Given the description of an element on the screen output the (x, y) to click on. 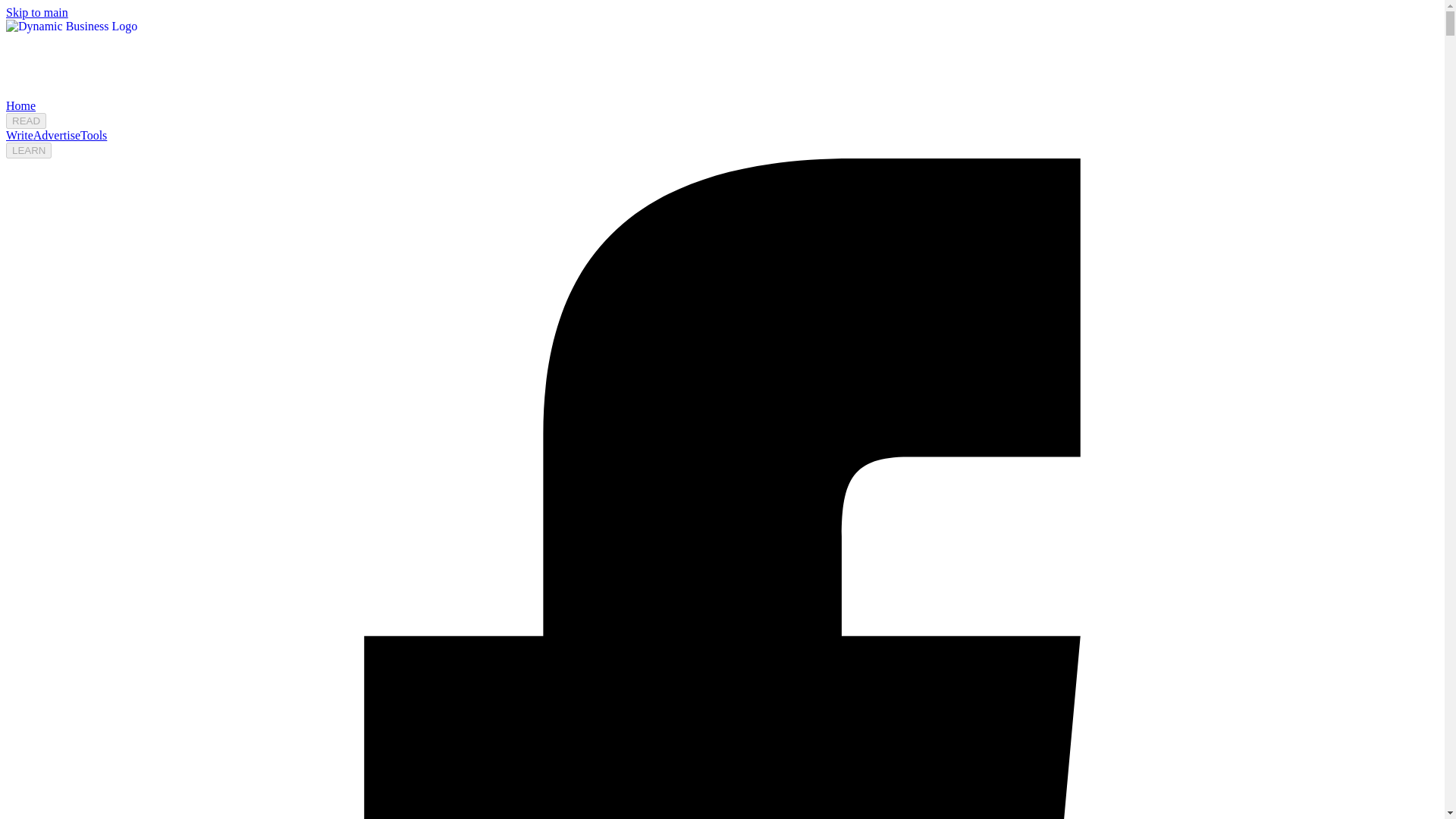
Home (19, 105)
READ (25, 120)
LEARN (27, 150)
Skip to main (36, 11)
Tools (93, 134)
Advertise (56, 134)
Write (19, 134)
